Given the description of an element on the screen output the (x, y) to click on. 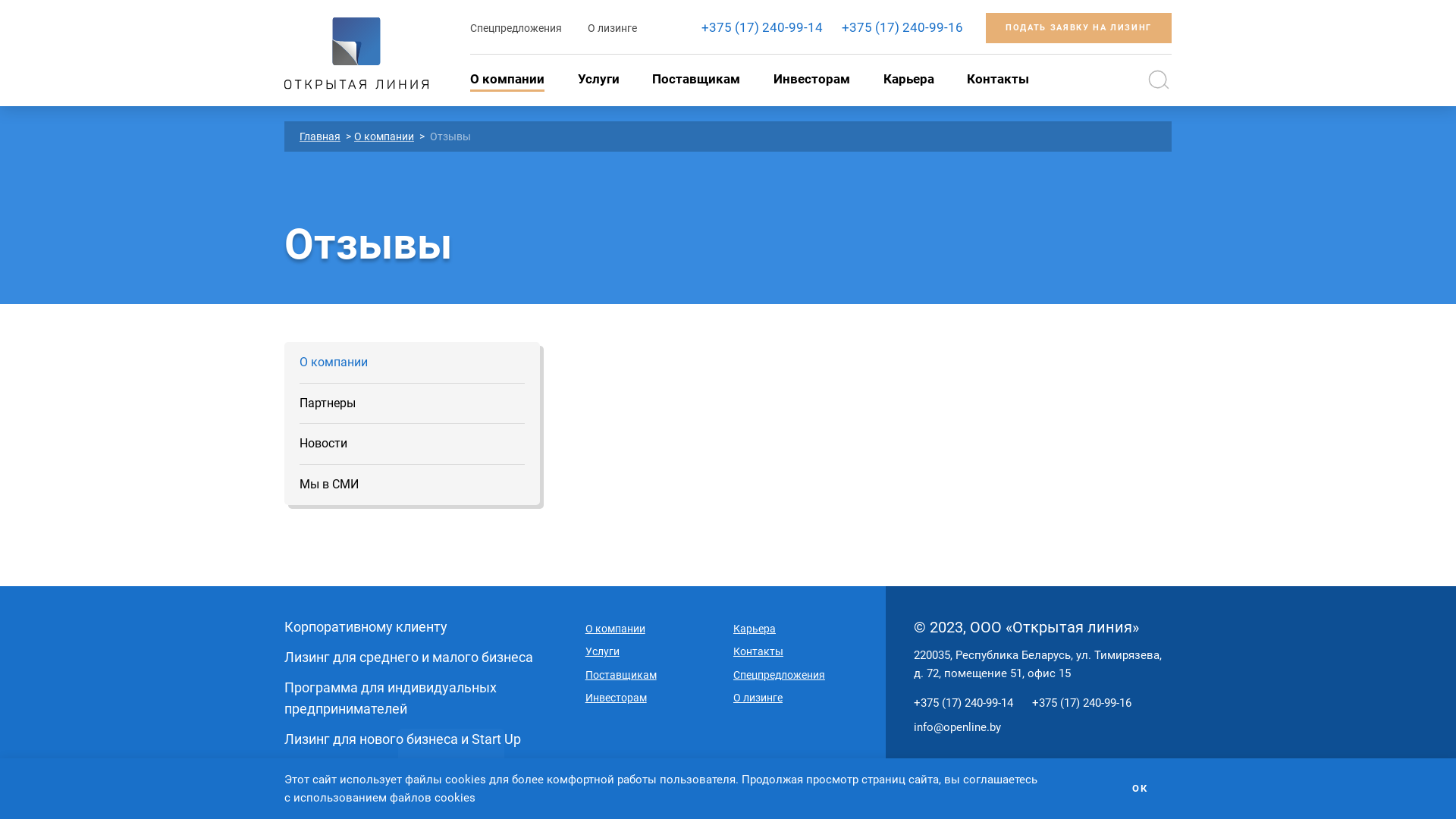
info@openline.by Element type: text (957, 727)
+375 (17) 240-99-16 Element type: text (902, 27)
+375 (17) 240-99-16 Element type: text (1081, 702)
+375 (17) 240-99-14 Element type: text (761, 27)
+375 (17) 240-99-14 Element type: text (963, 702)
